Given the description of an element on the screen output the (x, y) to click on. 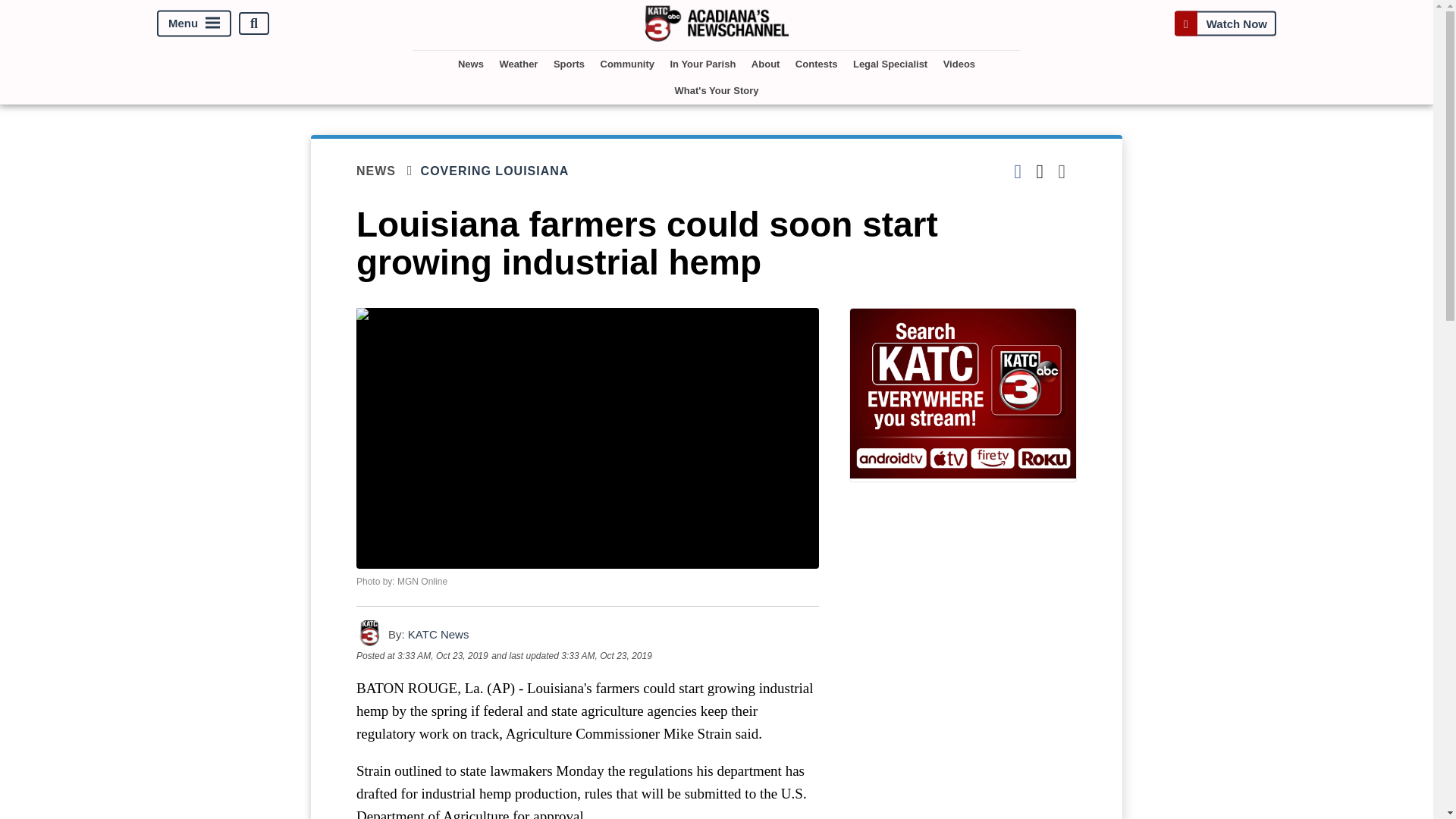
Watch Now (1224, 23)
Menu (194, 23)
